Given the description of an element on the screen output the (x, y) to click on. 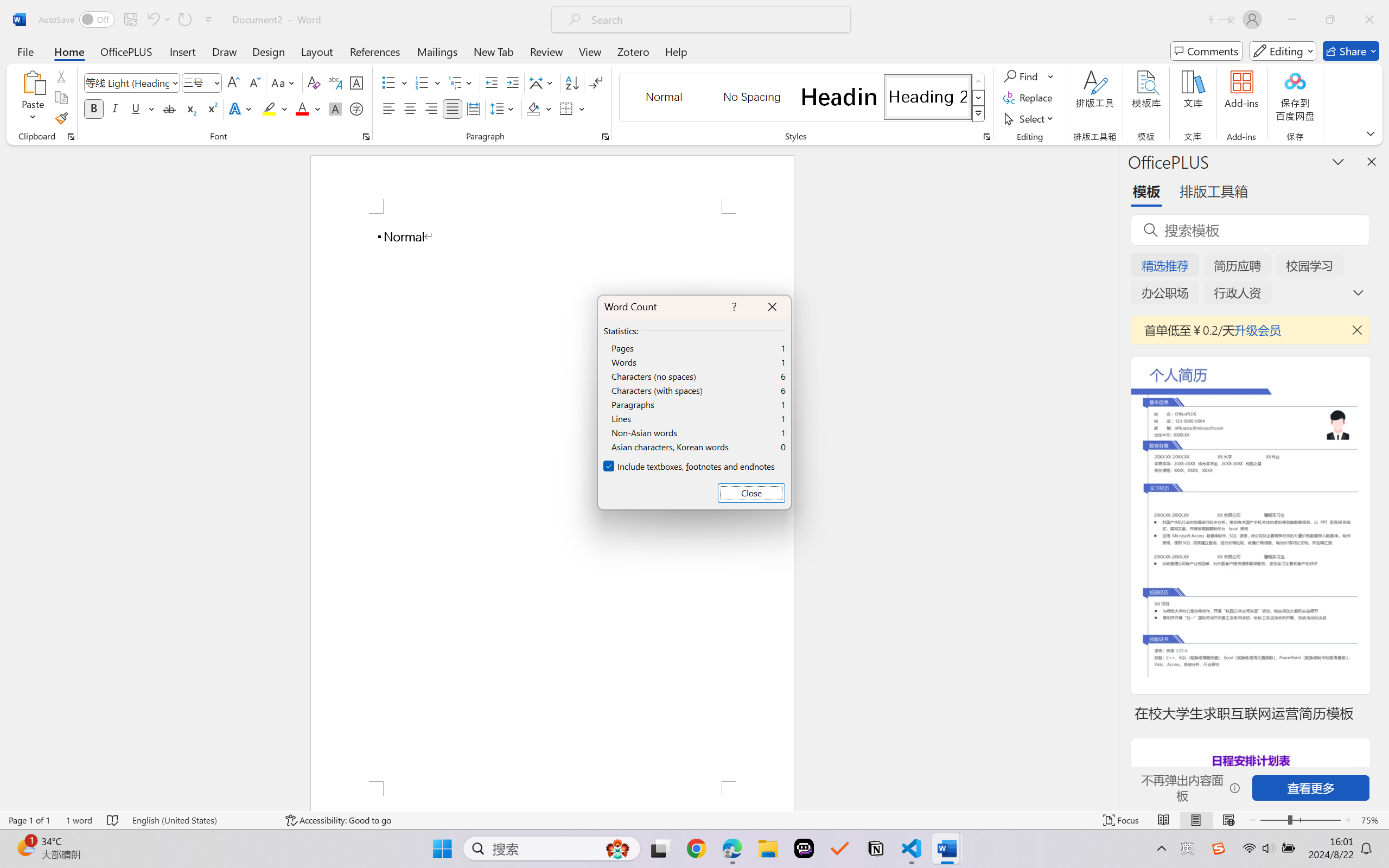
Numbering (421, 82)
Borders (566, 108)
Open (215, 82)
Task Pane Options (1338, 161)
Ribbon Display Options (1370, 132)
Repeat Doc Close (184, 19)
Font (132, 82)
Bullets (395, 82)
Layout (316, 51)
Find (1022, 75)
Character Border (356, 82)
